Given the description of an element on the screen output the (x, y) to click on. 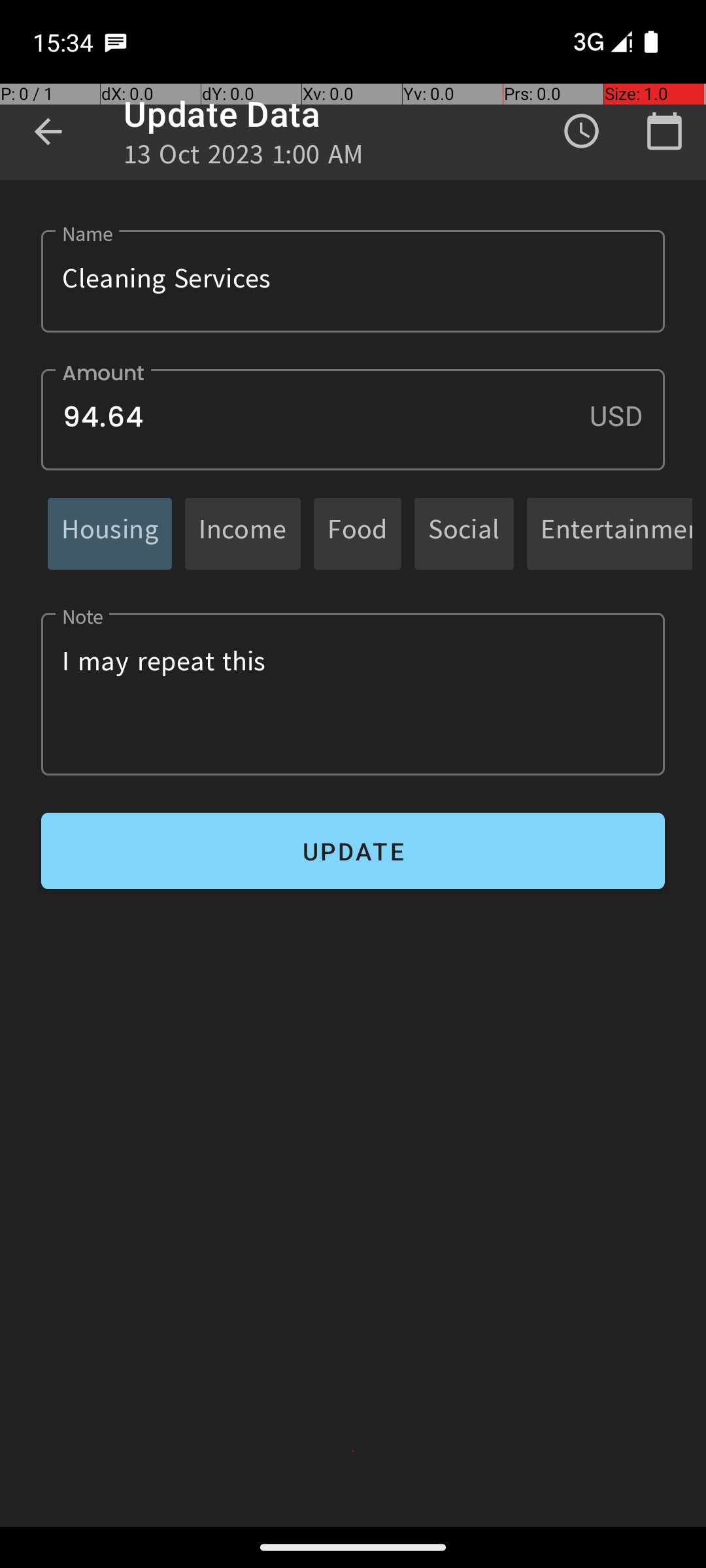
Update Data Element type: android.widget.TextView (221, 113)
13 Oct 2023 1:00 AM Element type: android.widget.TextView (243, 157)
Cleaning Services Element type: android.widget.EditText (352, 280)
94.64 Element type: android.widget.EditText (352, 419)
I may repeat this Element type: android.widget.EditText (352, 693)
UPDATE Element type: android.widget.Button (352, 850)
